Given the description of an element on the screen output the (x, y) to click on. 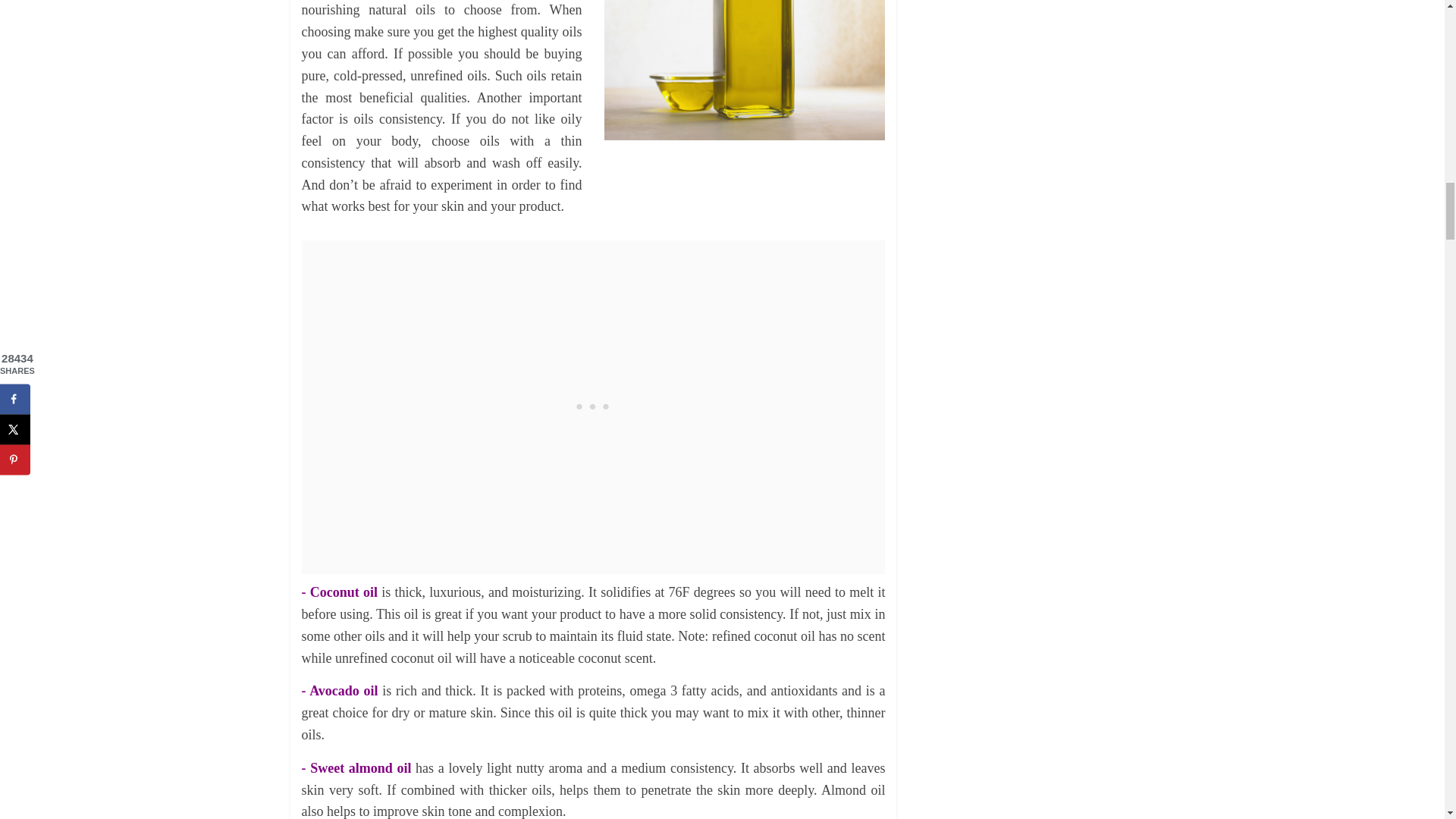
olive-oil-greek-oil-olive-53502 (744, 70)
